Given the description of an element on the screen output the (x, y) to click on. 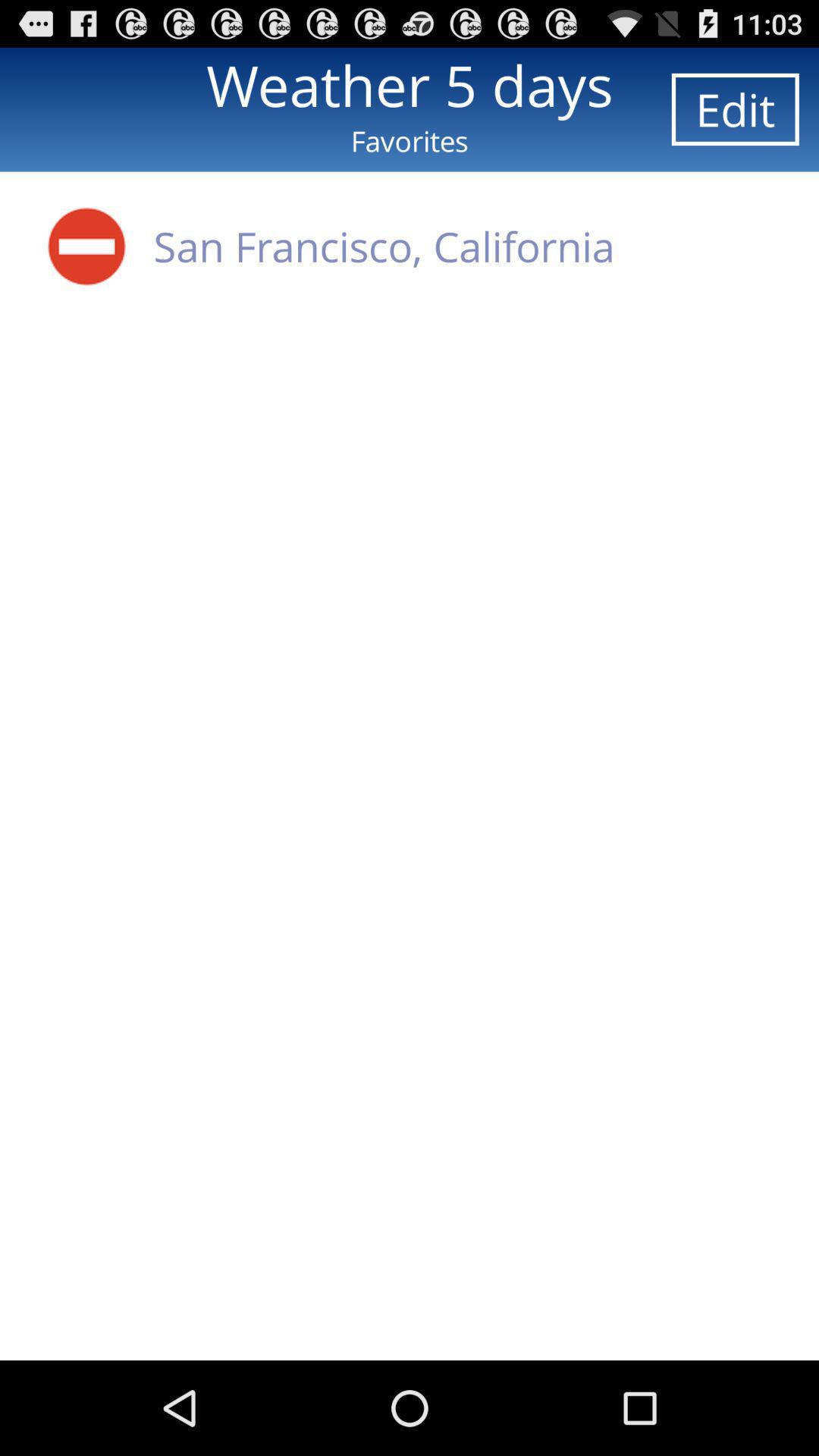
flip to the san francisco, california (383, 245)
